Given the description of an element on the screen output the (x, y) to click on. 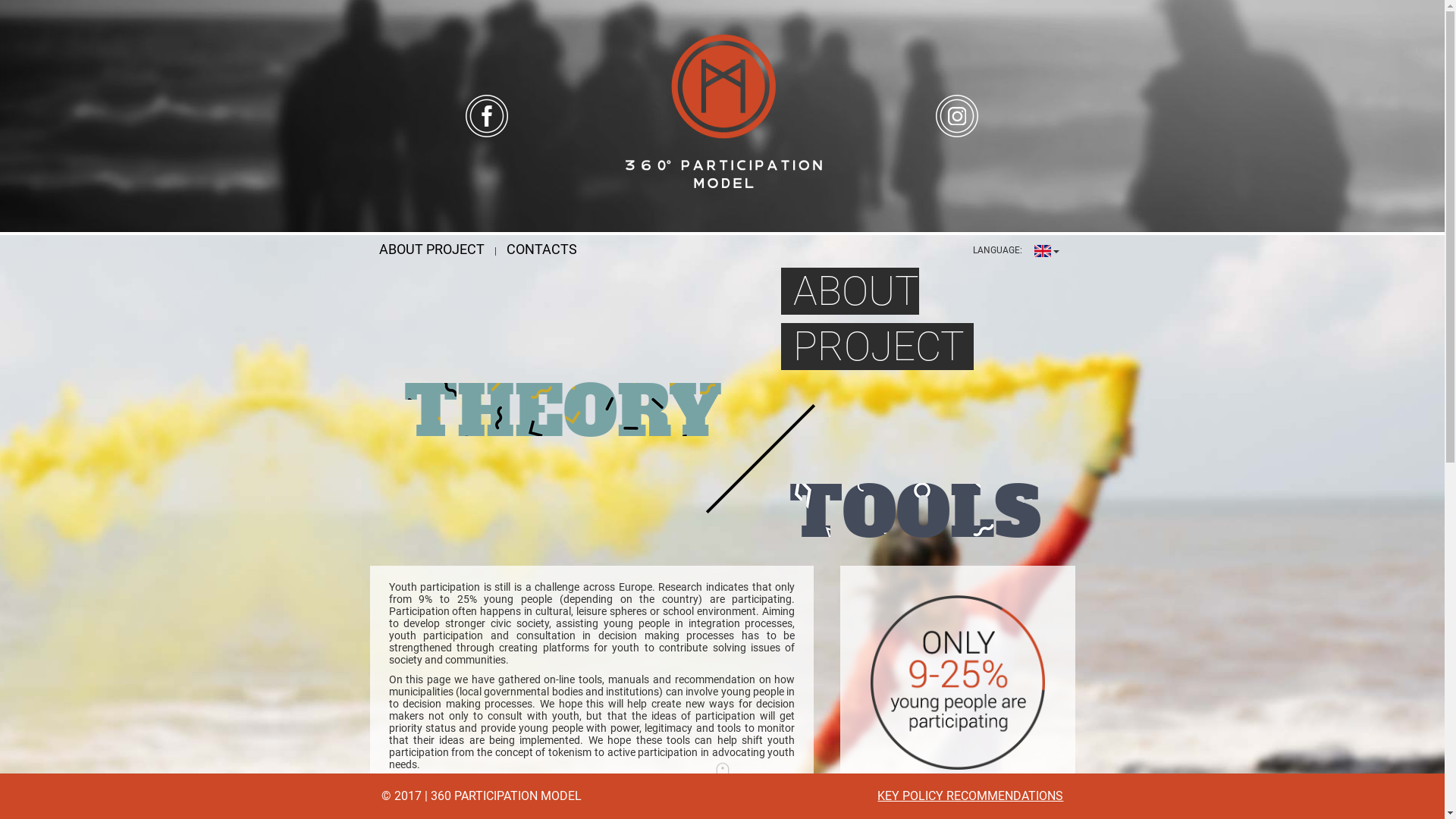
ABOUT PROJECT Element type: text (431, 249)
TOOLS Element type: text (914, 512)
THEORY Element type: text (562, 411)
KEY POLICY RECOMMENDATIONS Element type: text (970, 795)
CONTACTS Element type: text (541, 249)
